Given the description of an element on the screen output the (x, y) to click on. 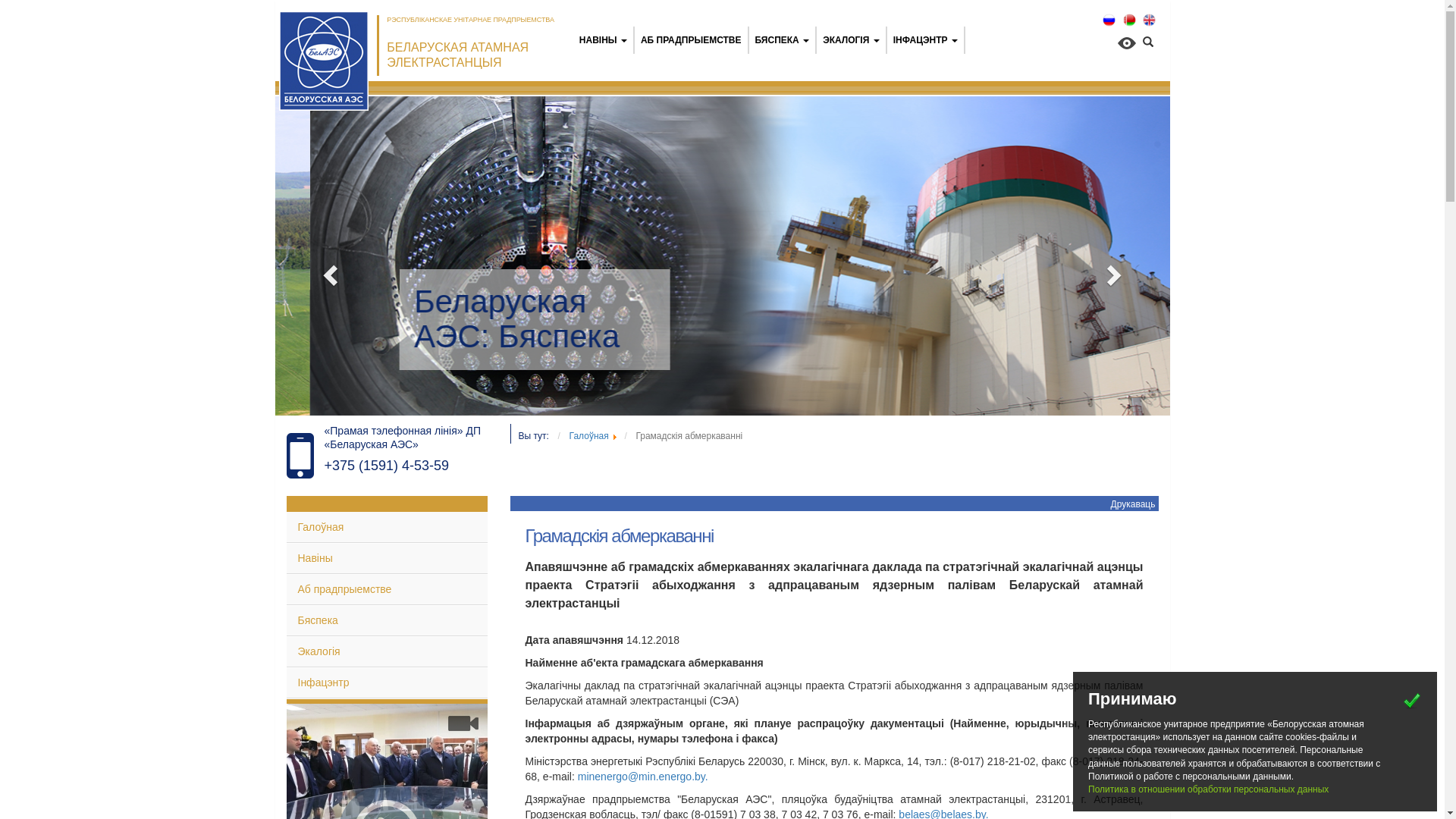
minenergo@min.energo.by. Element type: text (642, 776)
+375 (1591) 4-53-59 Element type: text (386, 465)
minenergo@min.energo.by Element type: text (641, 776)
English (UK) Element type: hover (1148, 19)
